Given the description of an element on the screen output the (x, y) to click on. 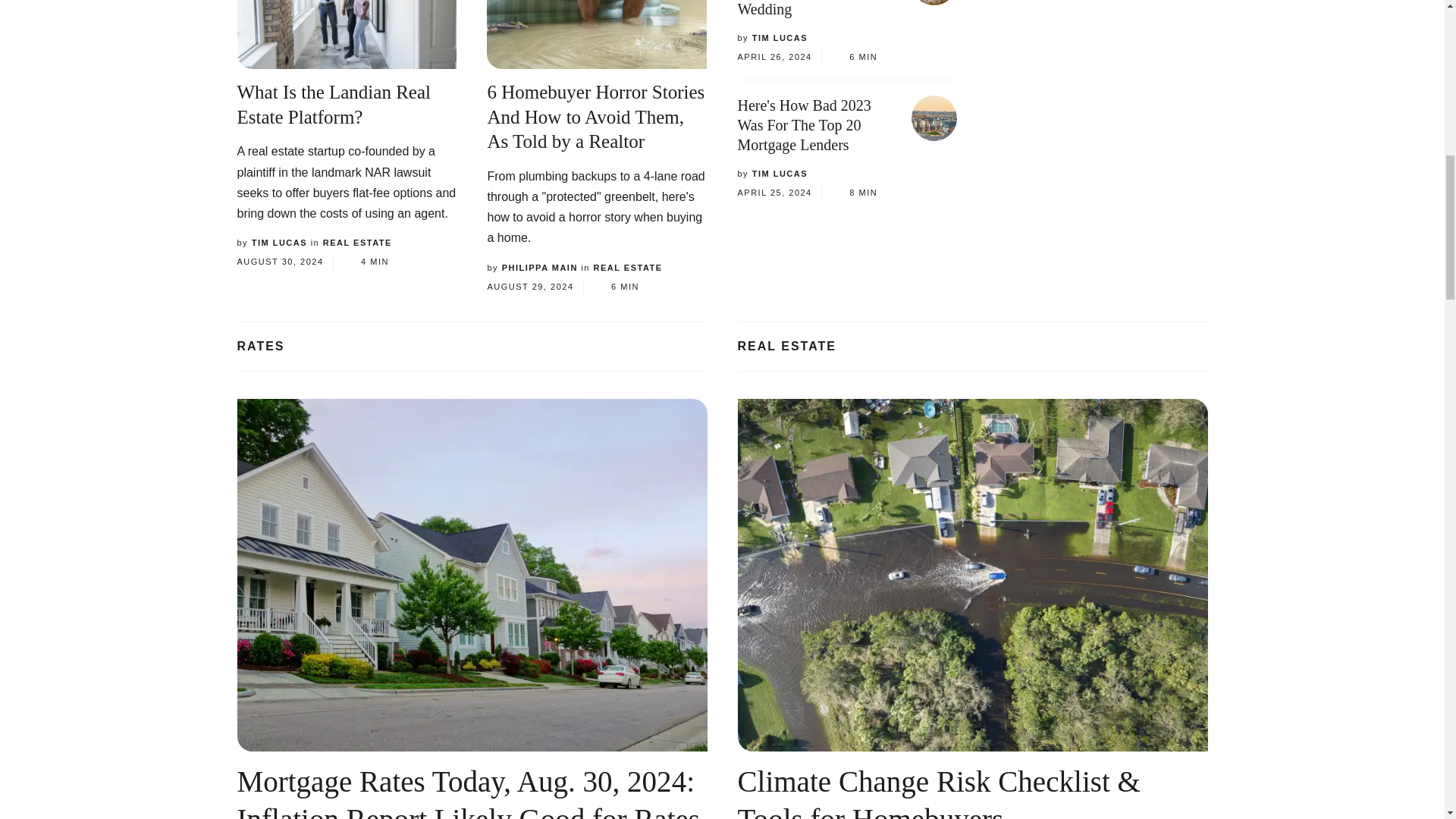
TIM LUCAS (780, 37)
What Is the Landian Real Estate Platform? (332, 104)
PHILIPPA MAIN (540, 266)
REAL ESTATE (357, 242)
TIM LUCAS (279, 242)
Here's How Bad 2023 Was For The Top 20 Mortgage Lenders (933, 117)
REAL ESTATE (628, 266)
